Given the description of an element on the screen output the (x, y) to click on. 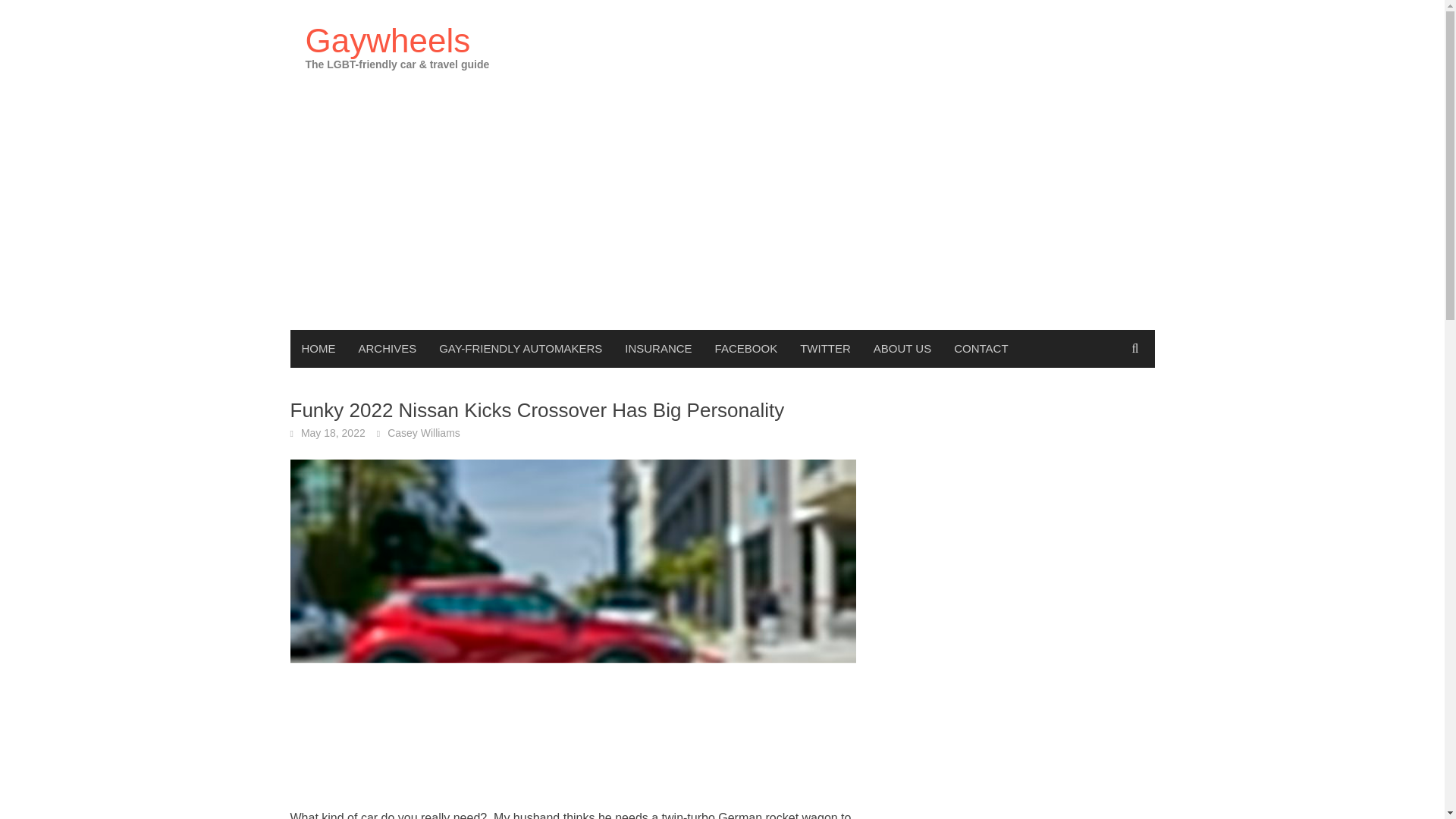
Casey Williams (423, 432)
TWITTER (825, 348)
Gaywheels (387, 40)
ABOUT US (901, 348)
May 18, 2022 (333, 432)
CONTACT (980, 348)
FACEBOOK (746, 348)
INSURANCE (657, 348)
ARCHIVES (387, 348)
